Given the description of an element on the screen output the (x, y) to click on. 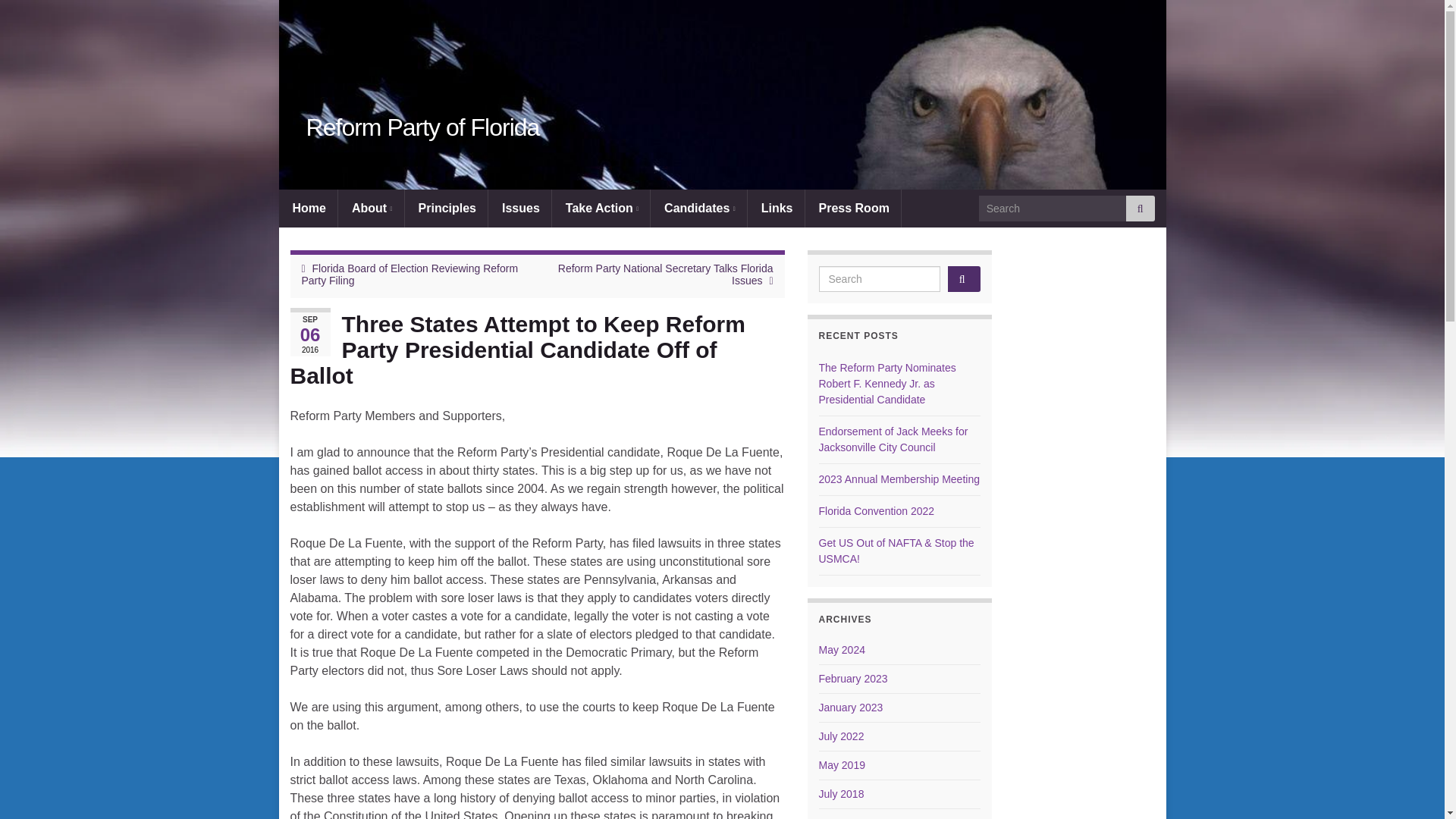
Home (308, 208)
2023 Annual Membership Meeting (898, 479)
Press Room (854, 208)
Reform Party of Florida (422, 126)
Candidates (699, 208)
About (372, 208)
Endorsement of Jack Meeks for Jacksonville City Council (893, 439)
Issues (520, 208)
Principles (447, 208)
Go back to the front page (422, 126)
Reform Party National Secretary Talks Florida Issues (665, 274)
May 2024 (841, 649)
Take Action (601, 208)
